Given the description of an element on the screen output the (x, y) to click on. 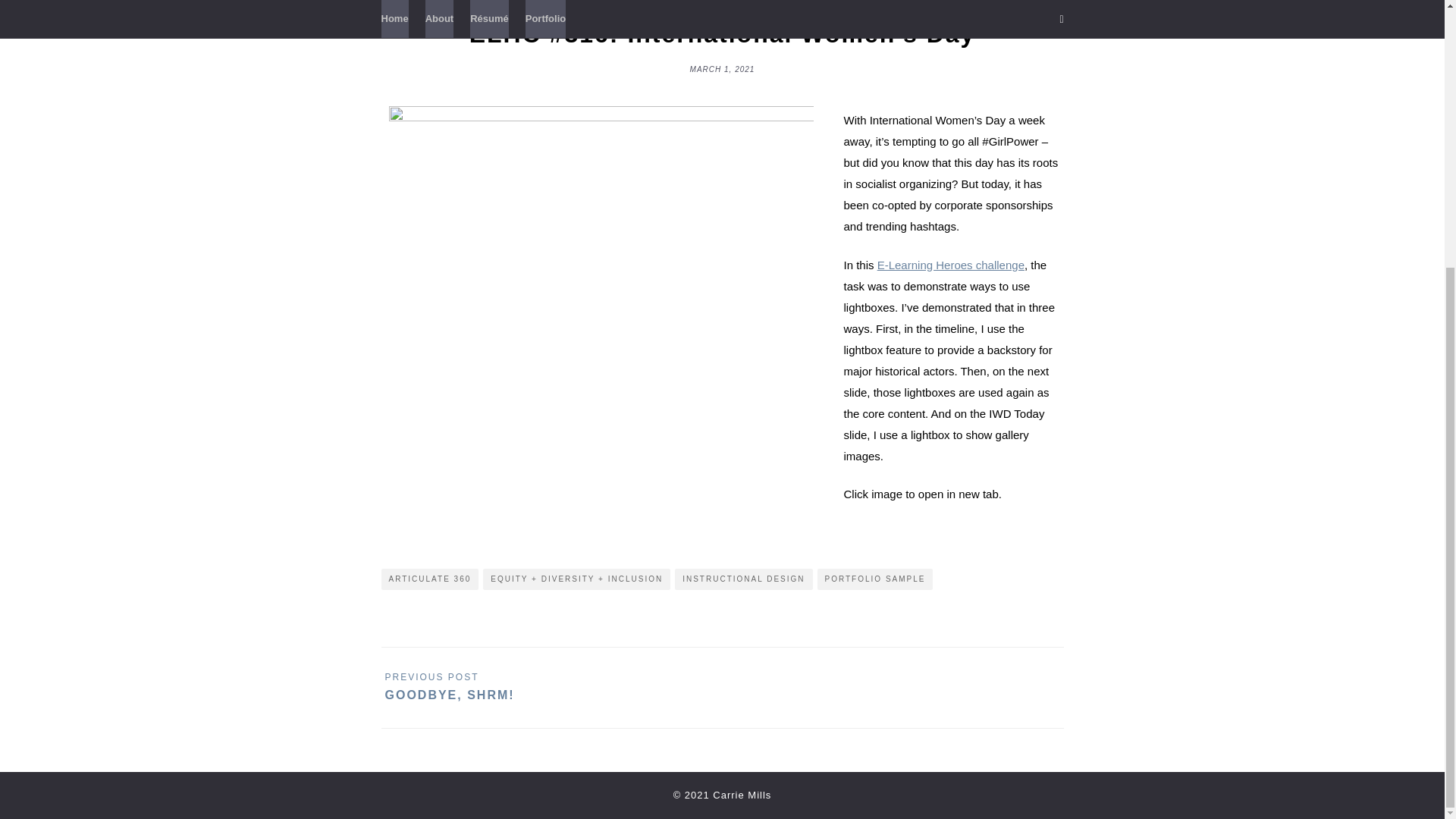
PORTFOLIO SAMPLE (874, 578)
E-Learning Heroes challenge (951, 264)
MARCH 1, 2021 (722, 67)
ARTICULATE 360 (429, 578)
INSTRUCTIONAL DESIGN (743, 578)
E-LEARNING HEROES CHALLENGE (722, 4)
GOODBYE, SHRM! (450, 687)
